Given the description of an element on the screen output the (x, y) to click on. 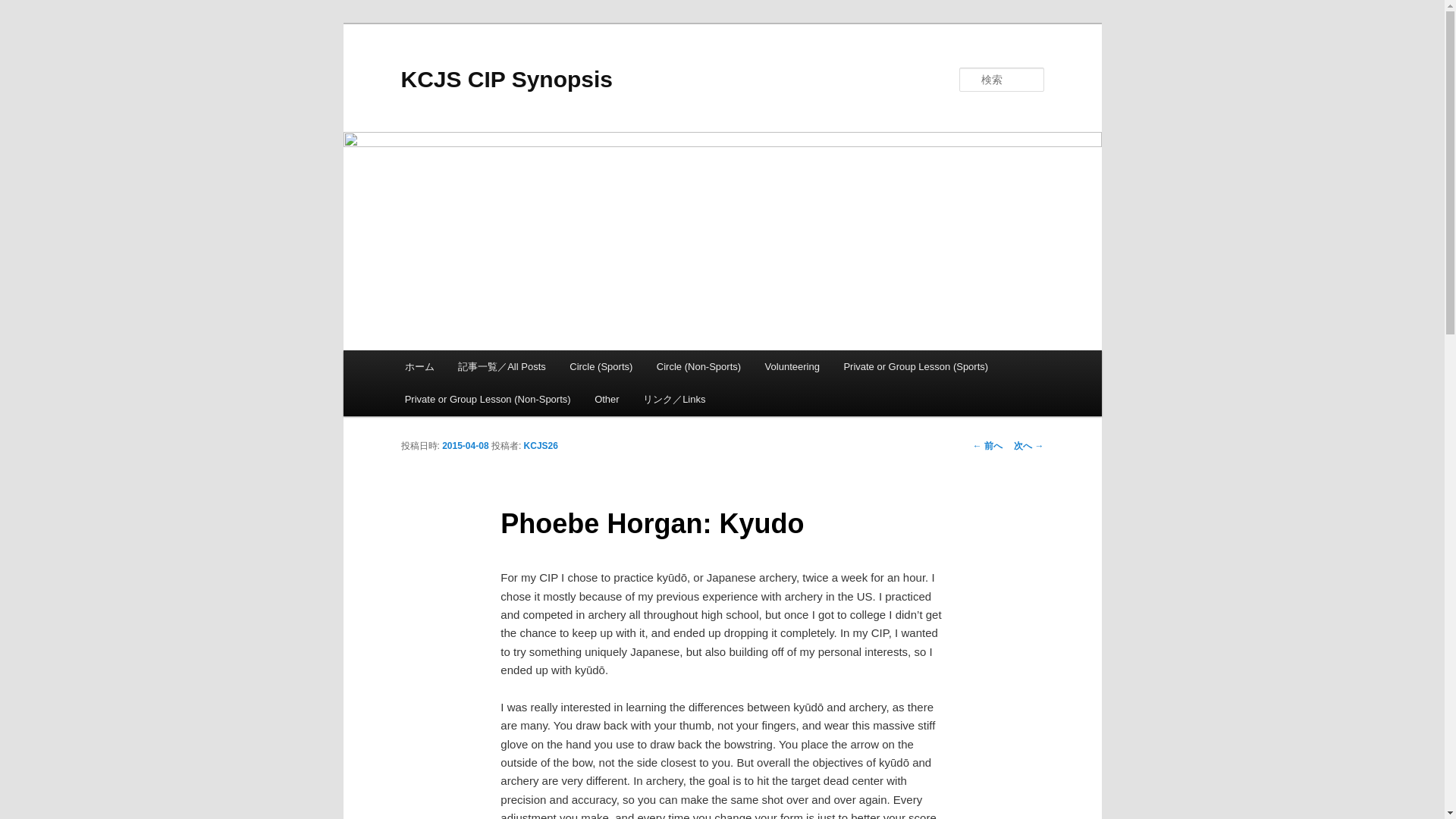
KCJS CIP Synopsis (506, 78)
Other (606, 399)
10:43 PM (464, 445)
2015-04-08 (464, 445)
KCJS CIP Synopsis (506, 78)
KCJS26 (540, 445)
Volunteering (791, 366)
